Given the description of an element on the screen output the (x, y) to click on. 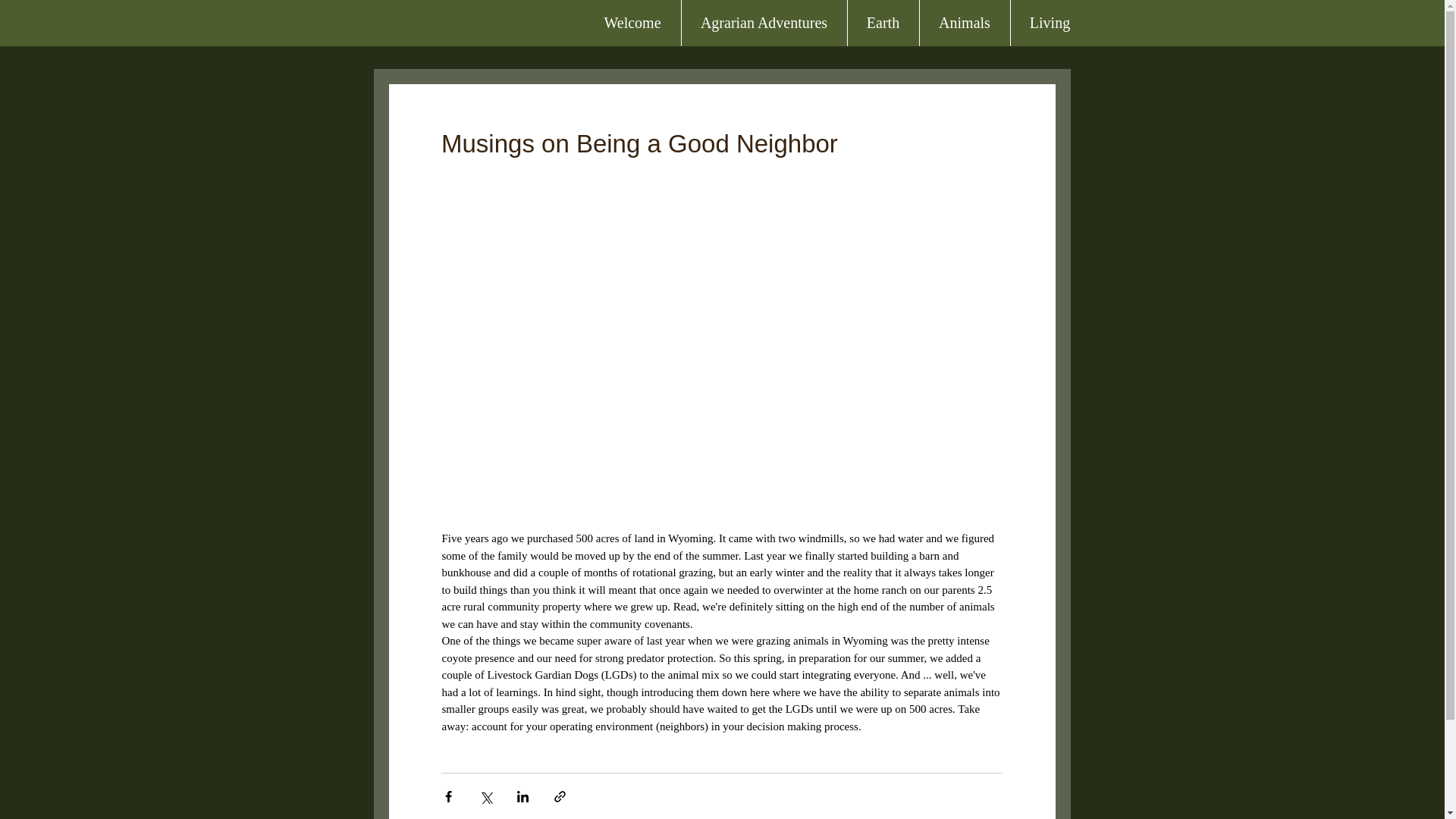
Living (1049, 22)
Animals (964, 22)
Agrarian Adventures (764, 22)
Welcome (631, 22)
Earth (881, 22)
